Given the description of an element on the screen output the (x, y) to click on. 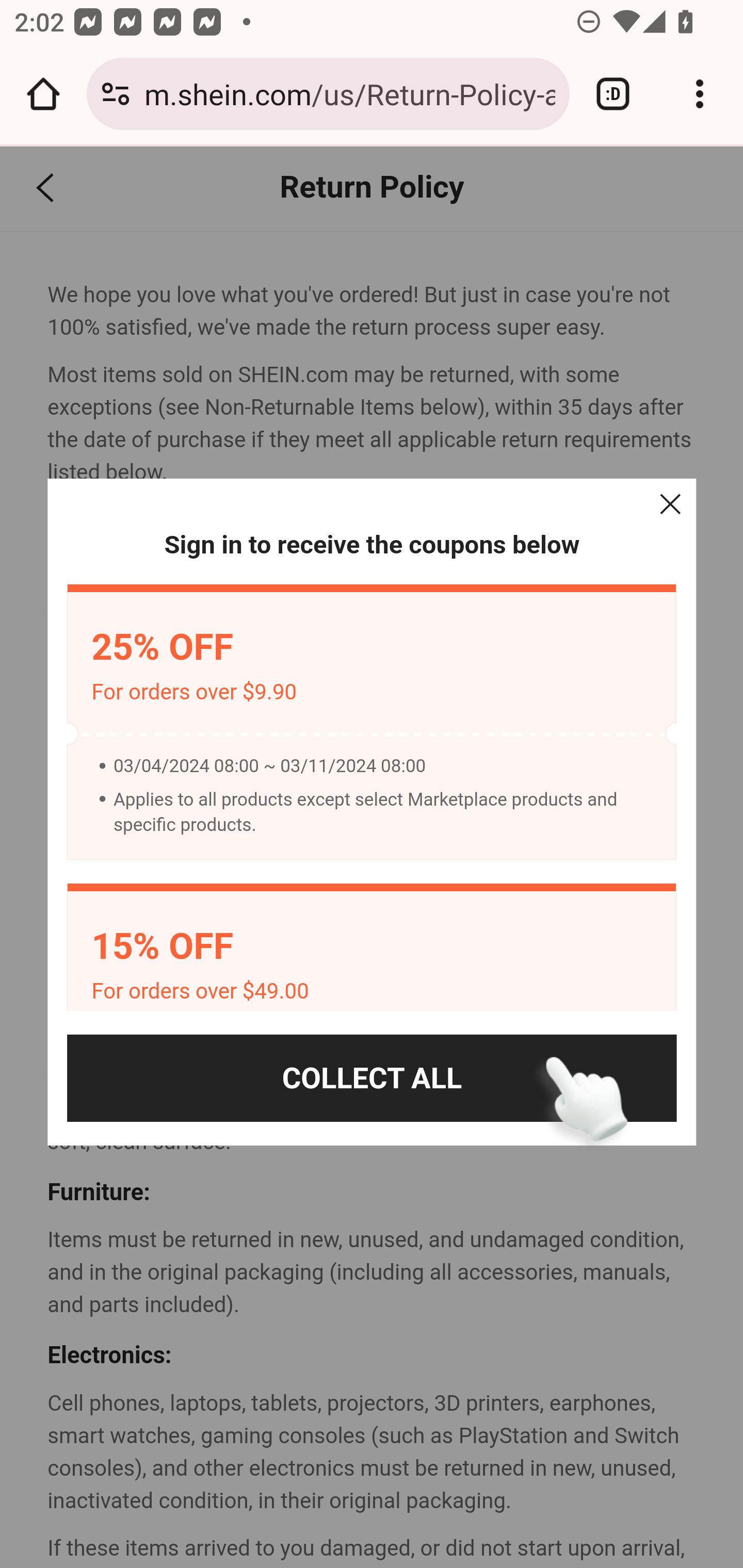
Open the home page (43, 93)
Connection is secure (115, 93)
Switch or close tabs (612, 93)
Customize and control Google Chrome (699, 93)
Close (669, 503)
COLLECT ALL (371, 1077)
